Given the description of an element on the screen output the (x, y) to click on. 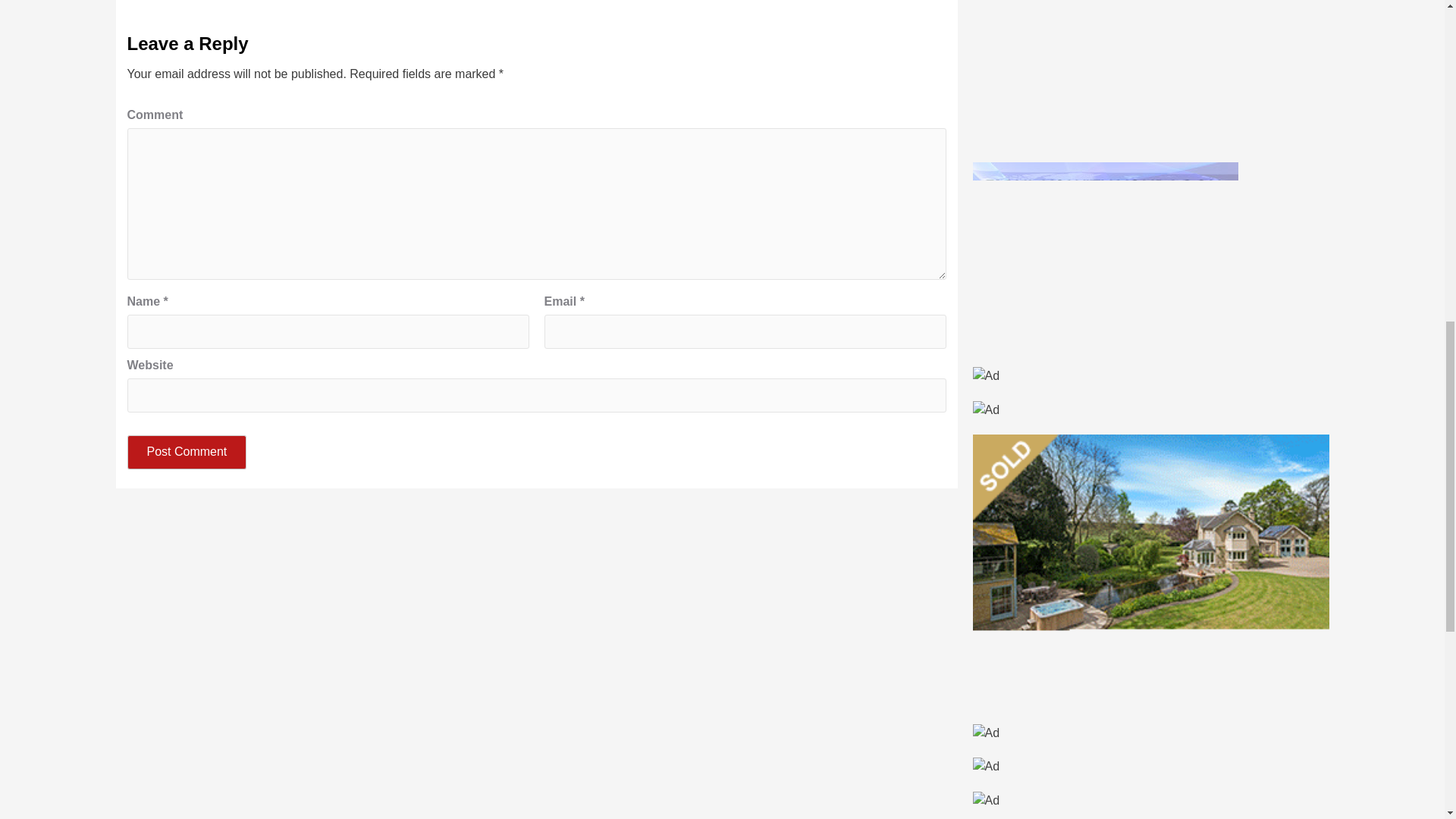
Post Comment (187, 451)
Post Comment (187, 451)
